Given the description of an element on the screen output the (x, y) to click on. 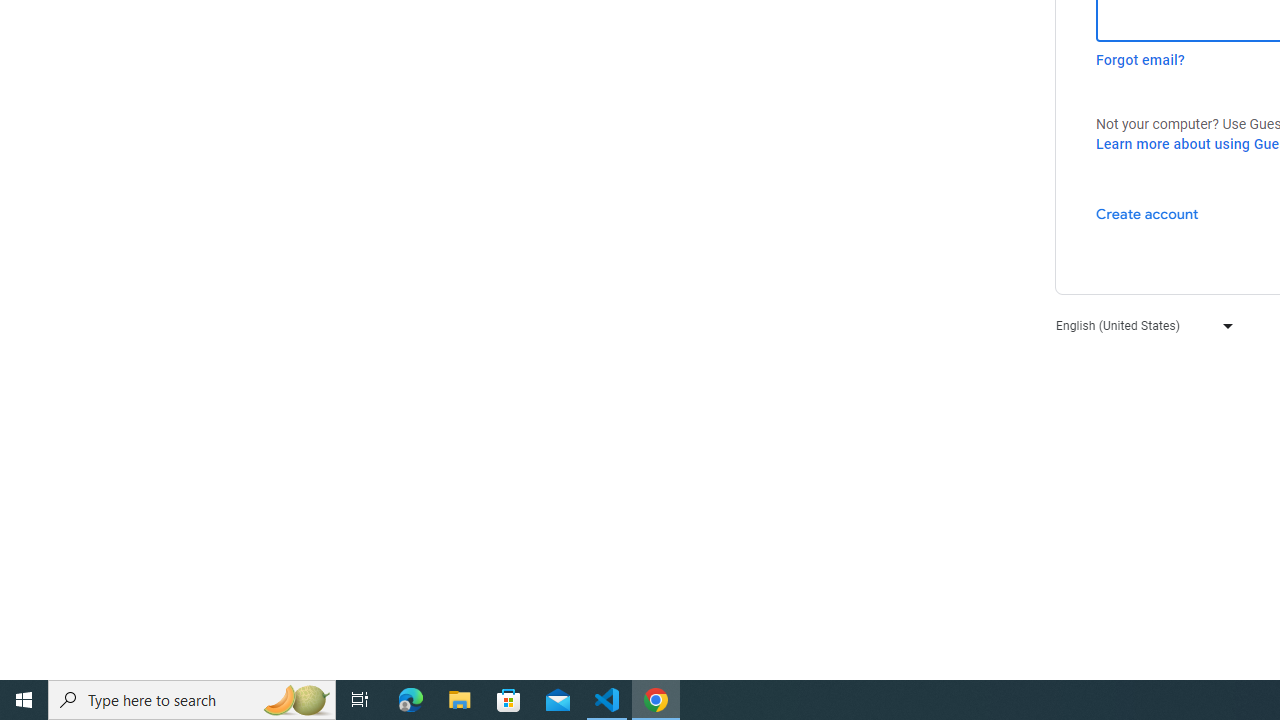
Forgot email? (1140, 59)
English (United States) (1139, 324)
Create account (1146, 213)
